Given the description of an element on the screen output the (x, y) to click on. 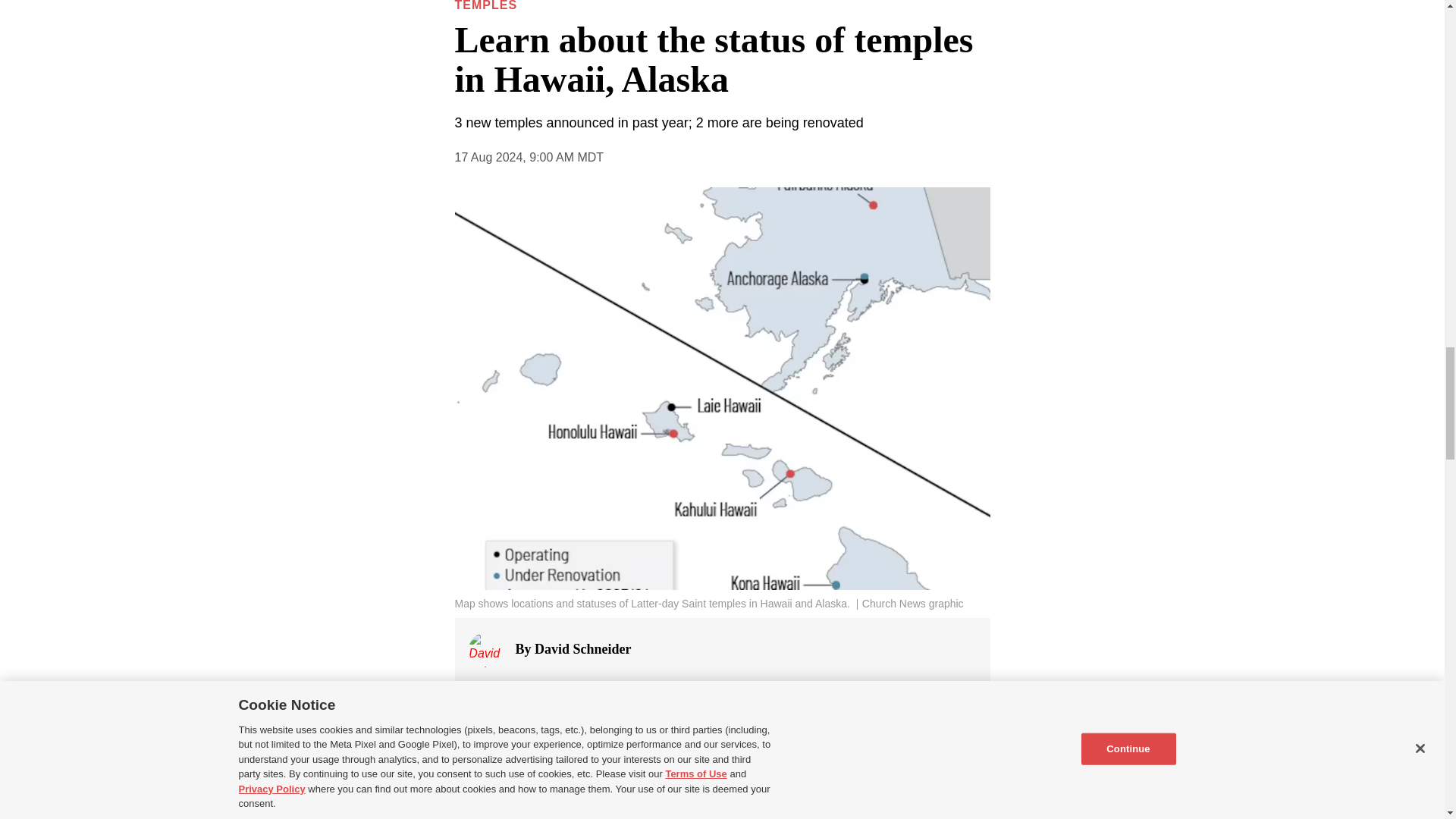
TEMPLES (486, 5)
Laie Hawaii Temple (748, 799)
David Schneider (582, 648)
